Given the description of an element on the screen output the (x, y) to click on. 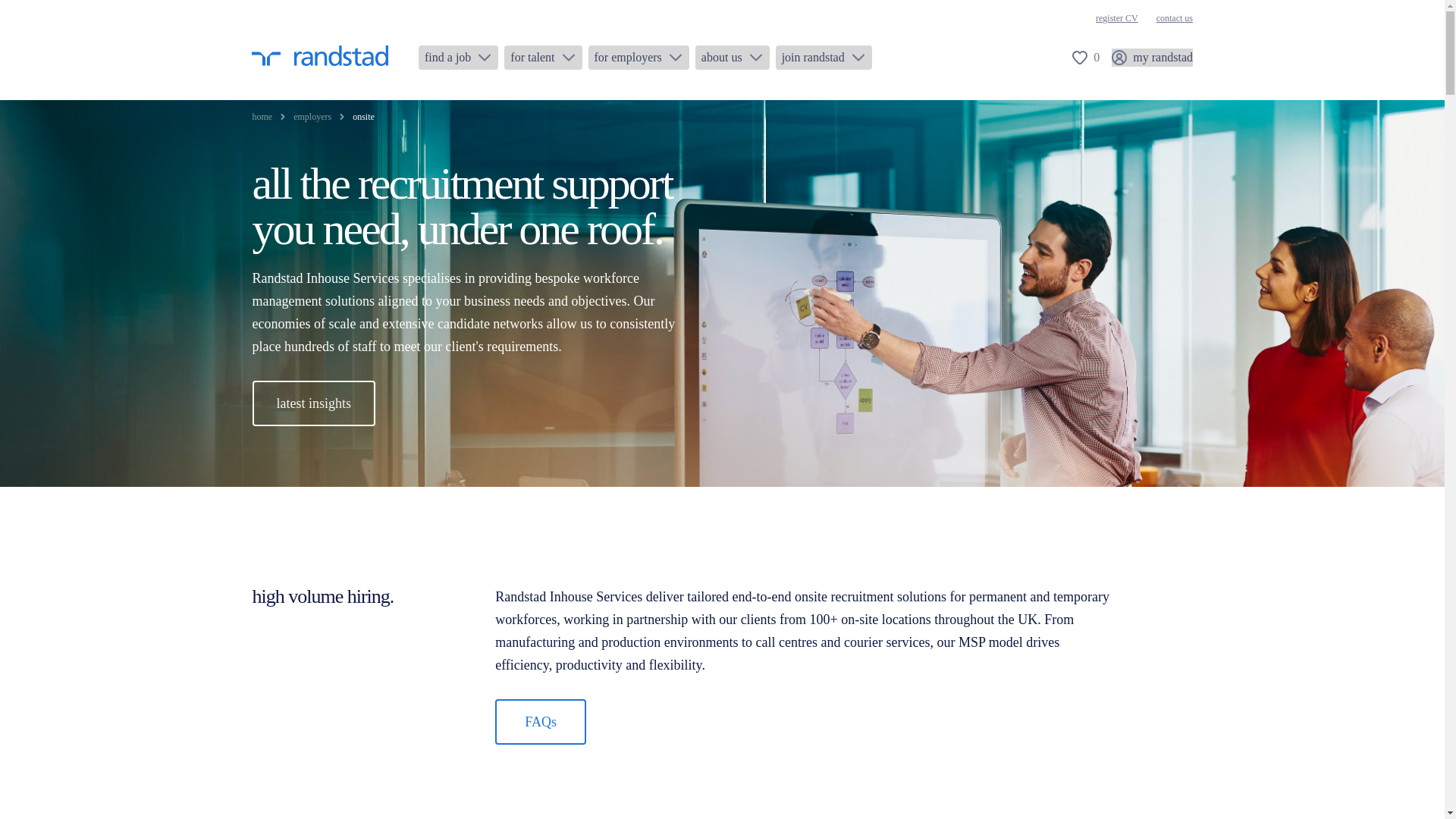
contact us (1174, 18)
for talent (541, 57)
find a job (458, 57)
register CV (1117, 18)
